Given the description of an element on the screen output the (x, y) to click on. 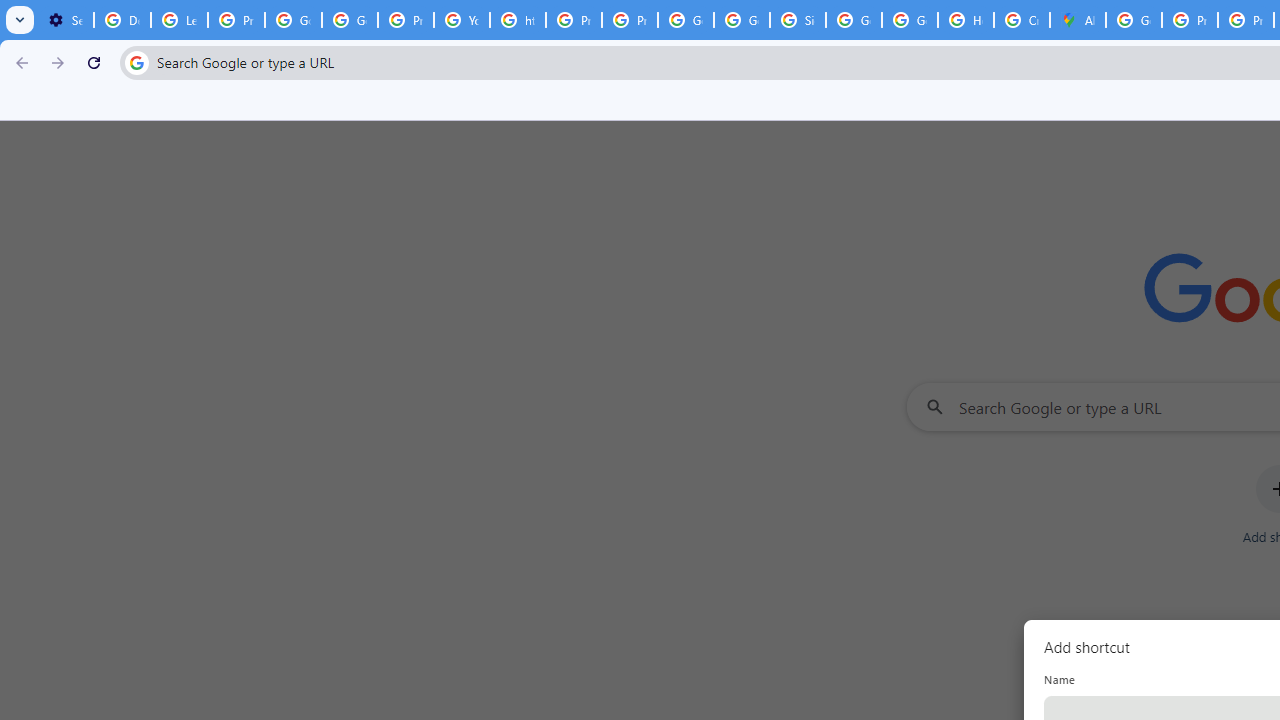
YouTube (461, 20)
https://scholar.google.com/ (518, 20)
Google Account Help (293, 20)
Learn how to find your photos - Google Photos Help (179, 20)
Sign in - Google Accounts (797, 20)
